Given the description of an element on the screen output the (x, y) to click on. 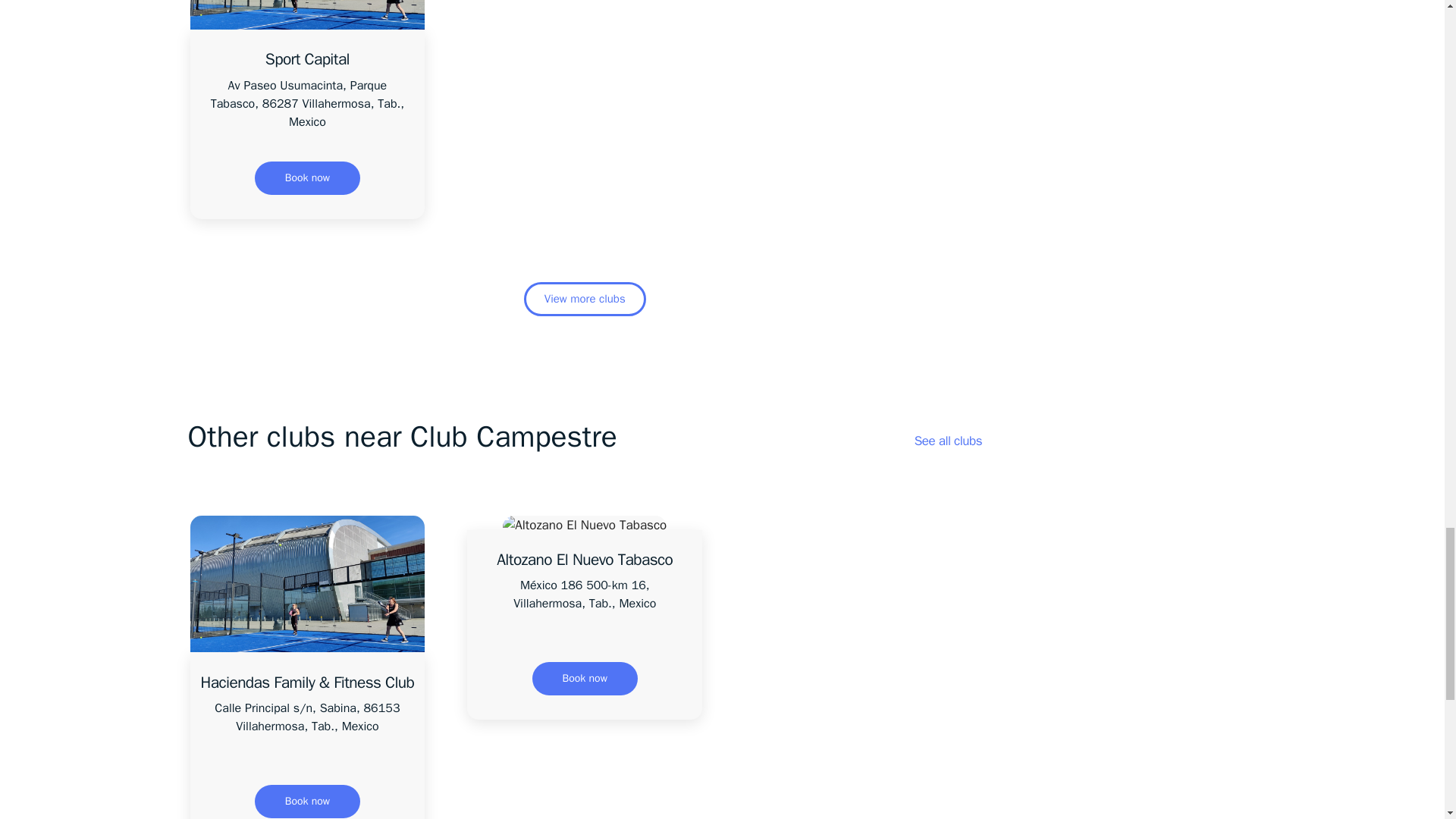
View more clubs (585, 298)
See all clubs (947, 440)
Book now (306, 801)
Book now (306, 177)
Book now (584, 678)
